Given the description of an element on the screen output the (x, y) to click on. 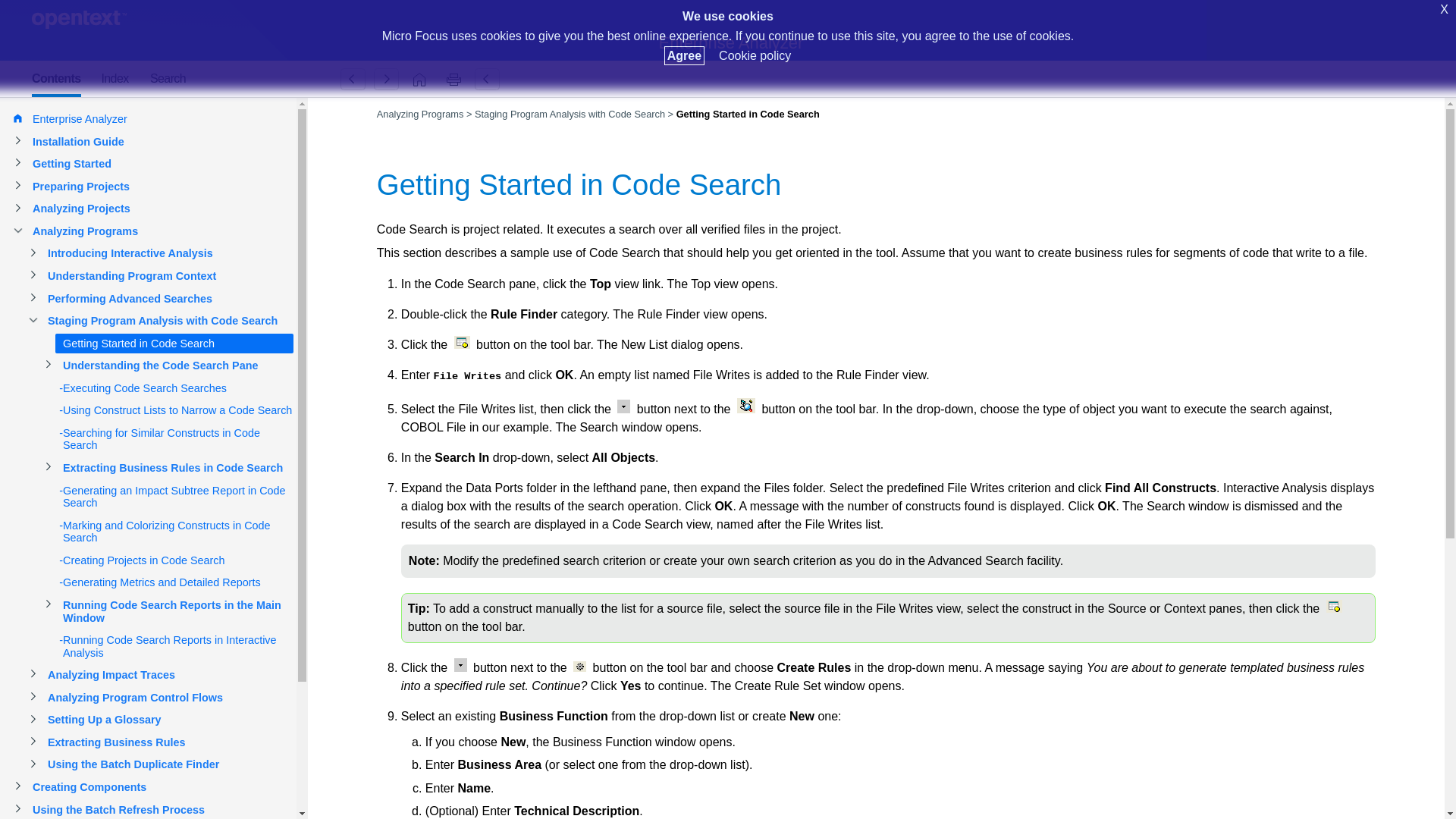
Understanding the Code Search Pane (386, 78)
Staging Program Analysis with Code Search (352, 78)
Agree (684, 55)
Cookie policy (754, 55)
